Given the description of an element on the screen output the (x, y) to click on. 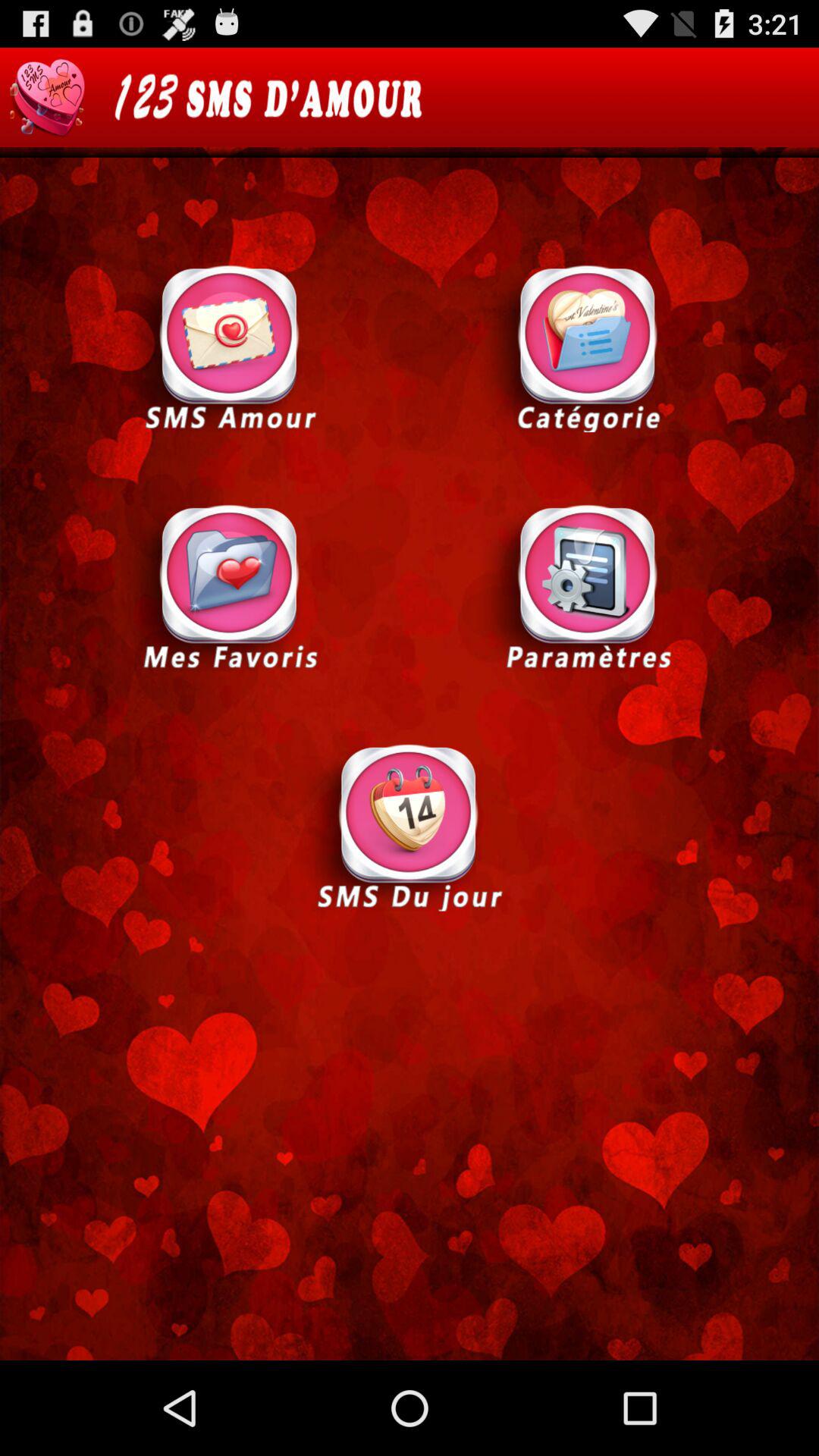
open options menu (587, 586)
